Given the description of an element on the screen output the (x, y) to click on. 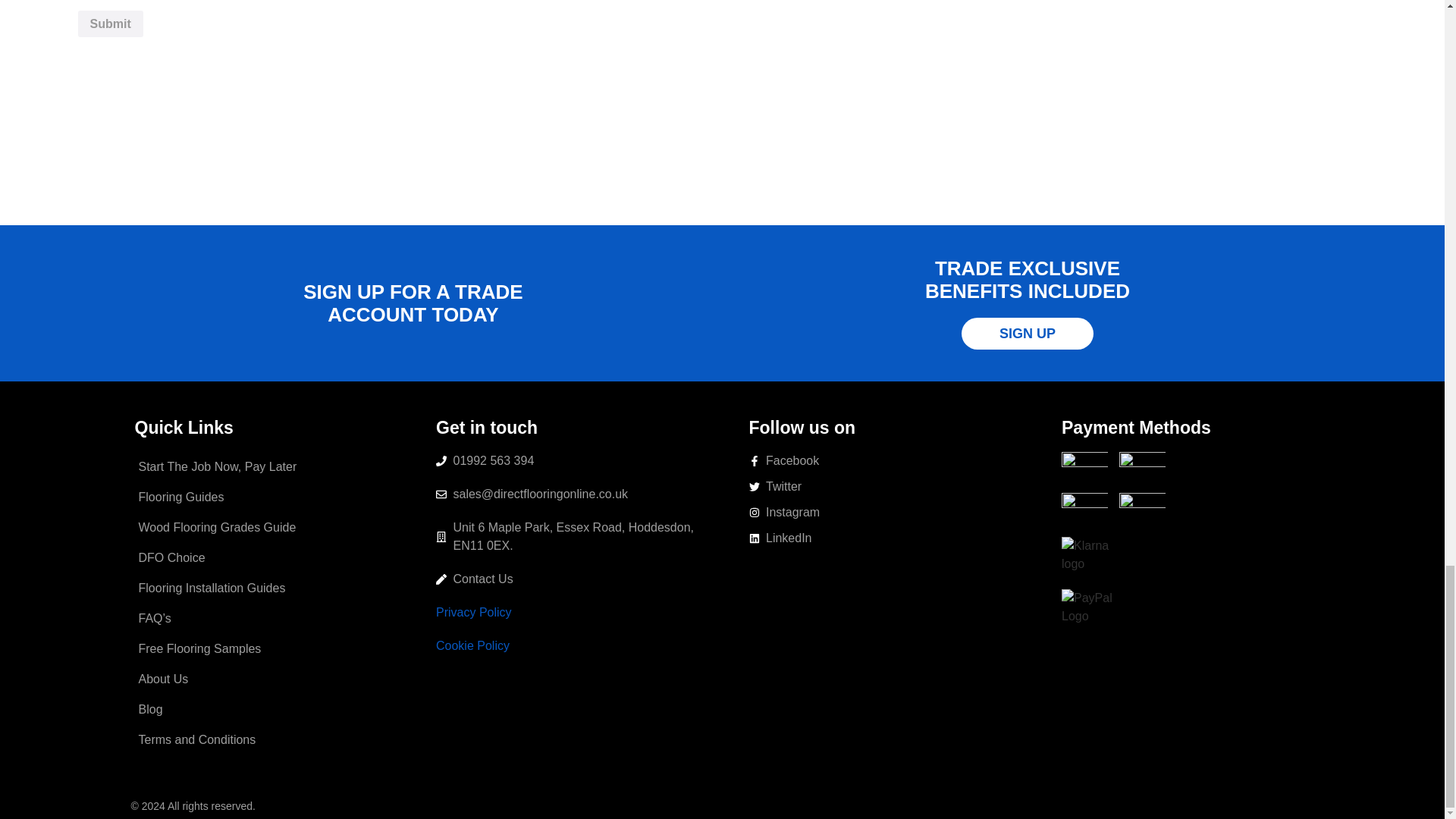
Cookie Policy  (472, 645)
Submit (109, 23)
Privacy Policy  (473, 612)
